Given the description of an element on the screen output the (x, y) to click on. 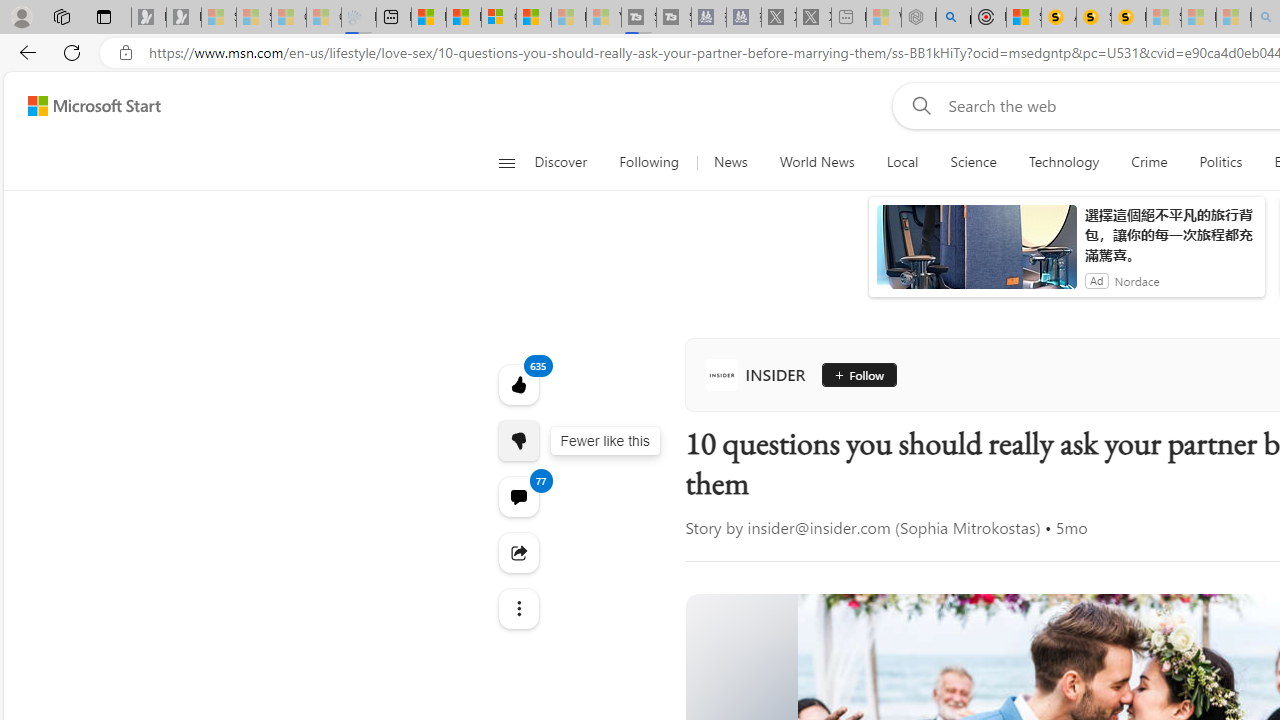
Workspaces (61, 16)
Ad (1096, 280)
X - Sleeping (813, 17)
View site information (125, 53)
Michelle Starr, Senior Journalist at ScienceAlert (1128, 17)
INSIDER (759, 374)
Local (902, 162)
Dislike (517, 440)
Tab actions menu (104, 16)
Nordace - Summer Adventures 2024 - Sleeping (918, 17)
New tab (393, 17)
